Given the description of an element on the screen output the (x, y) to click on. 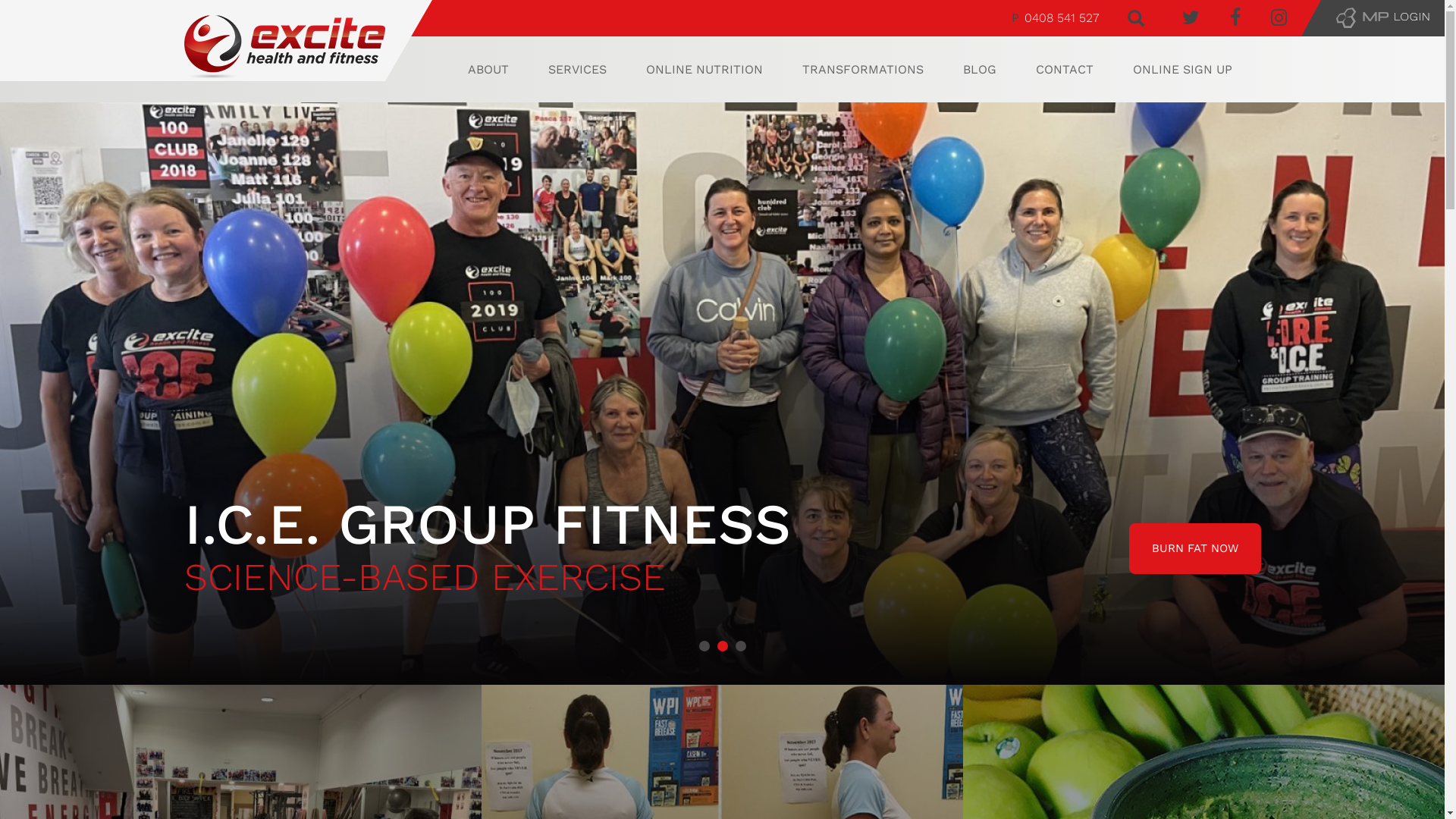
TRANSFORMATIONS Element type: text (862, 69)
F.I.R.E.
THE BODY SHAPER
SHAPE UP NOW Element type: text (722, 393)
CONTACT Element type: text (1064, 69)
ABOUT Element type: text (487, 69)
2 Element type: text (722, 645)
Next Element type: text (1424, 393)
Go Element type: text (12, 19)
SHAPE UP NOW Element type: text (1193, 548)
3 Element type: text (740, 645)
BLOG Element type: text (979, 69)
SERVICES Element type: text (576, 69)
ONLINE NUTRITION Element type: text (704, 69)
Stop Element type: text (1437, 691)
ONLINE SIGN UP Element type: text (1182, 69)
1 Element type: text (704, 645)
Start Element type: text (1425, 691)
Prev Element type: text (19, 393)
Submit Element type: text (45, 19)
